Given the description of an element on the screen output the (x, y) to click on. 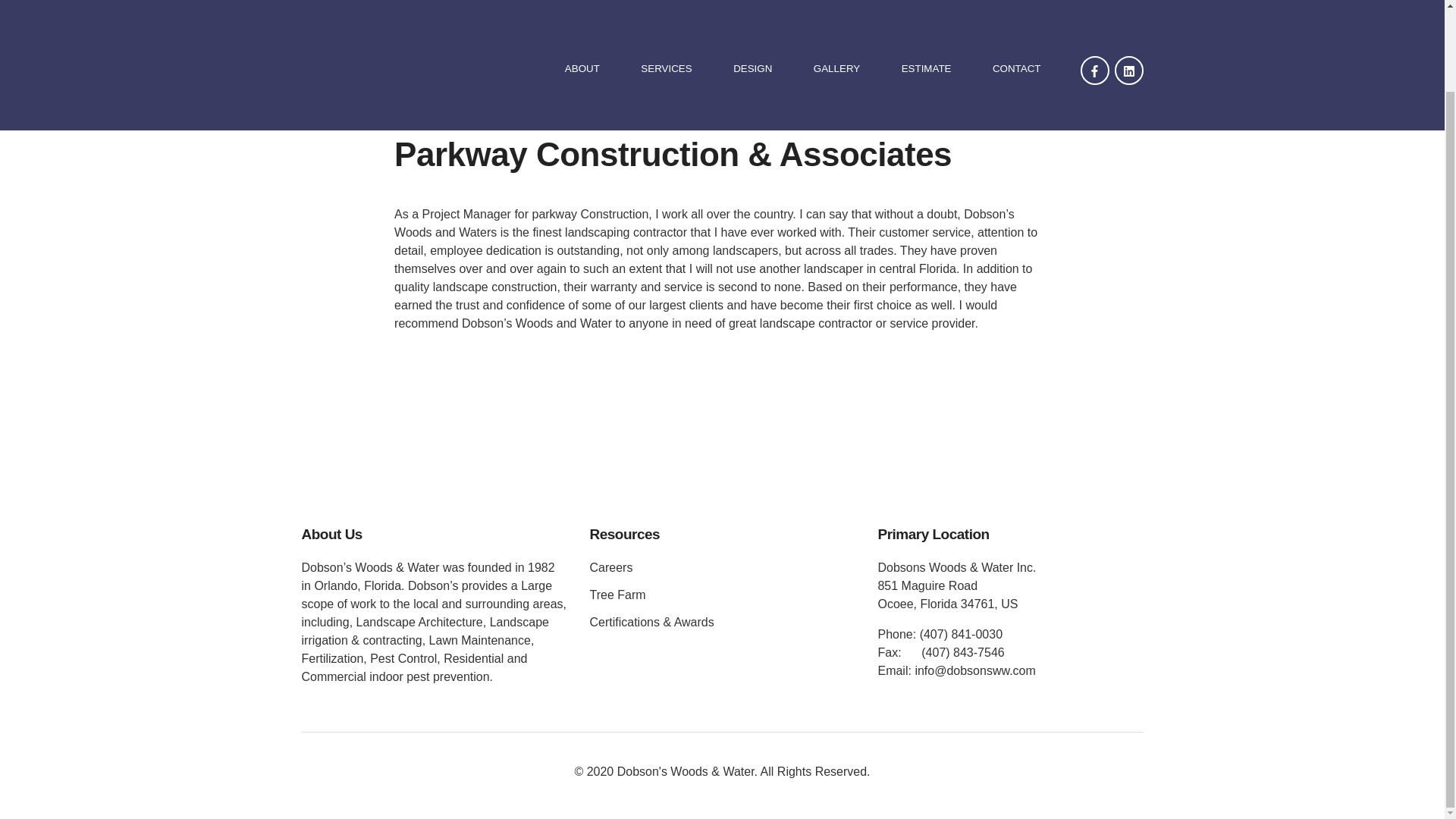
Go to Home. (316, 28)
Tree Farm (617, 594)
Home (316, 28)
Careers (610, 567)
